Given the description of an element on the screen output the (x, y) to click on. 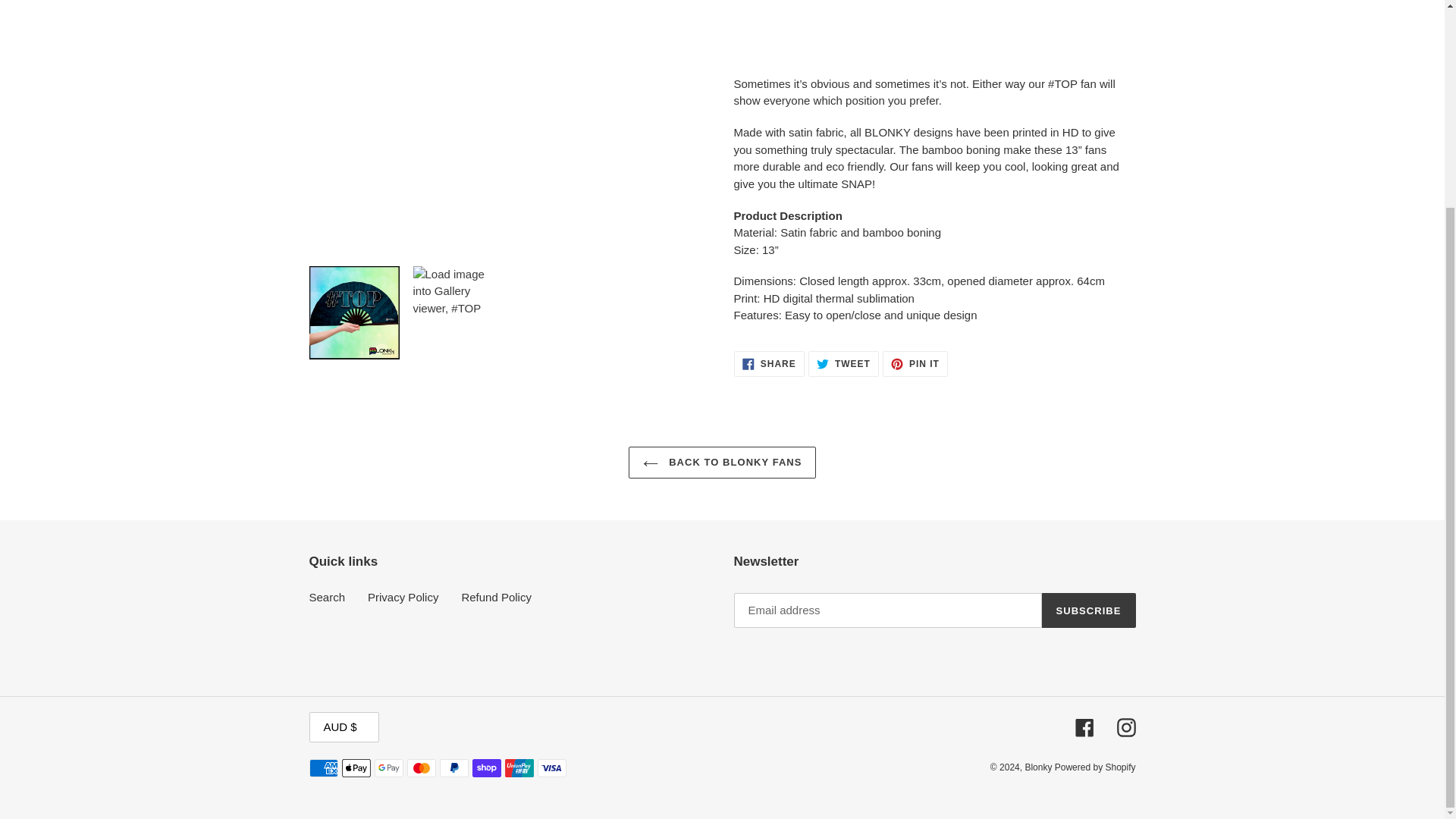
Privacy Policy (403, 596)
Facebook (1084, 727)
Powered by Shopify (1094, 767)
BACK TO BLONKY FANS (769, 363)
Search (722, 462)
Instagram (327, 596)
Blonky (1125, 727)
SUBSCRIBE (843, 363)
Refund Policy (914, 363)
